Given the description of an element on the screen output the (x, y) to click on. 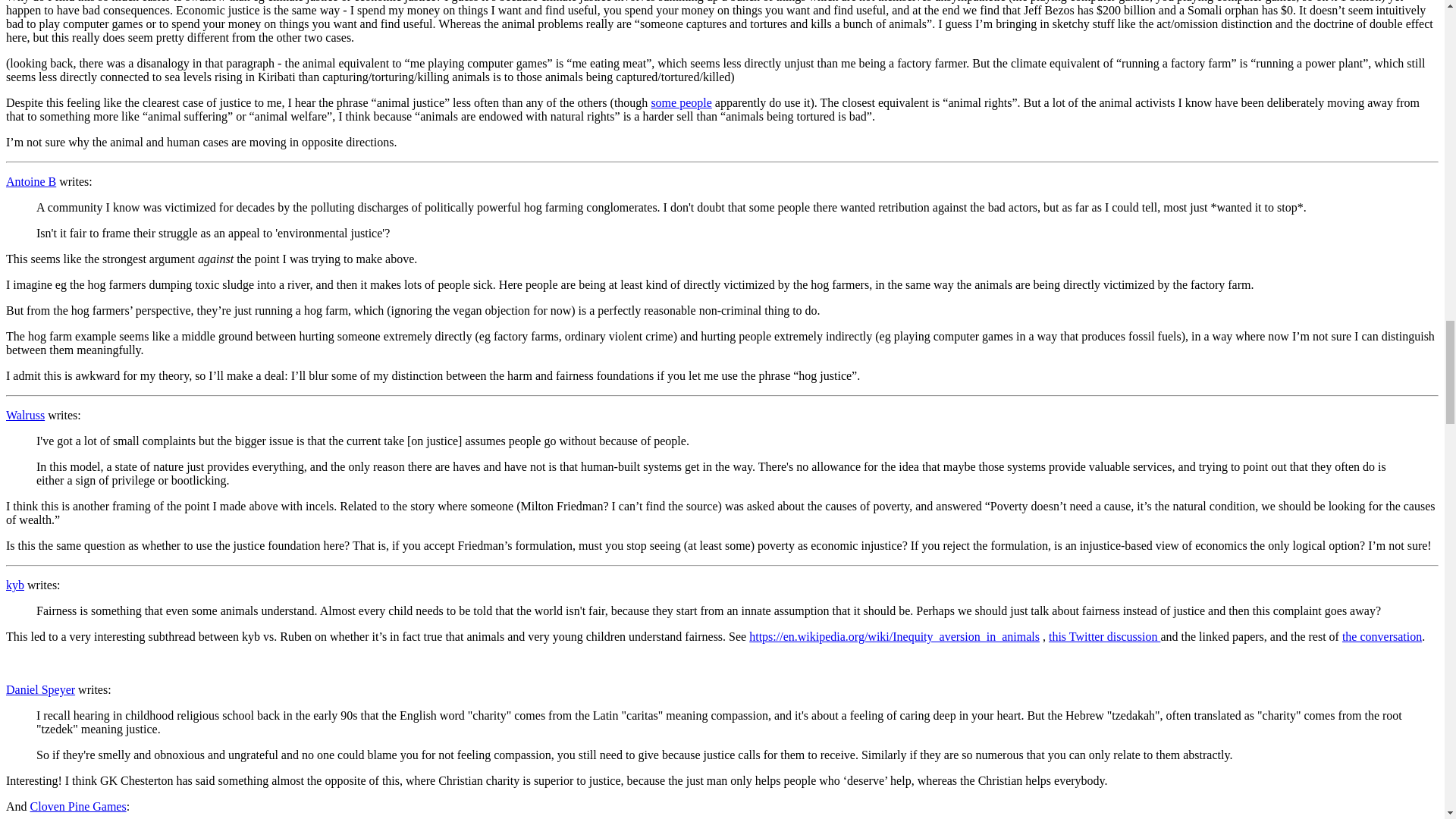
kyb (14, 584)
Antoine B (30, 181)
Walruss (25, 414)
Daniel Speyer (40, 689)
some people (680, 102)
the conversation (1382, 635)
this Twitter discussion (1104, 635)
